Given the description of an element on the screen output the (x, y) to click on. 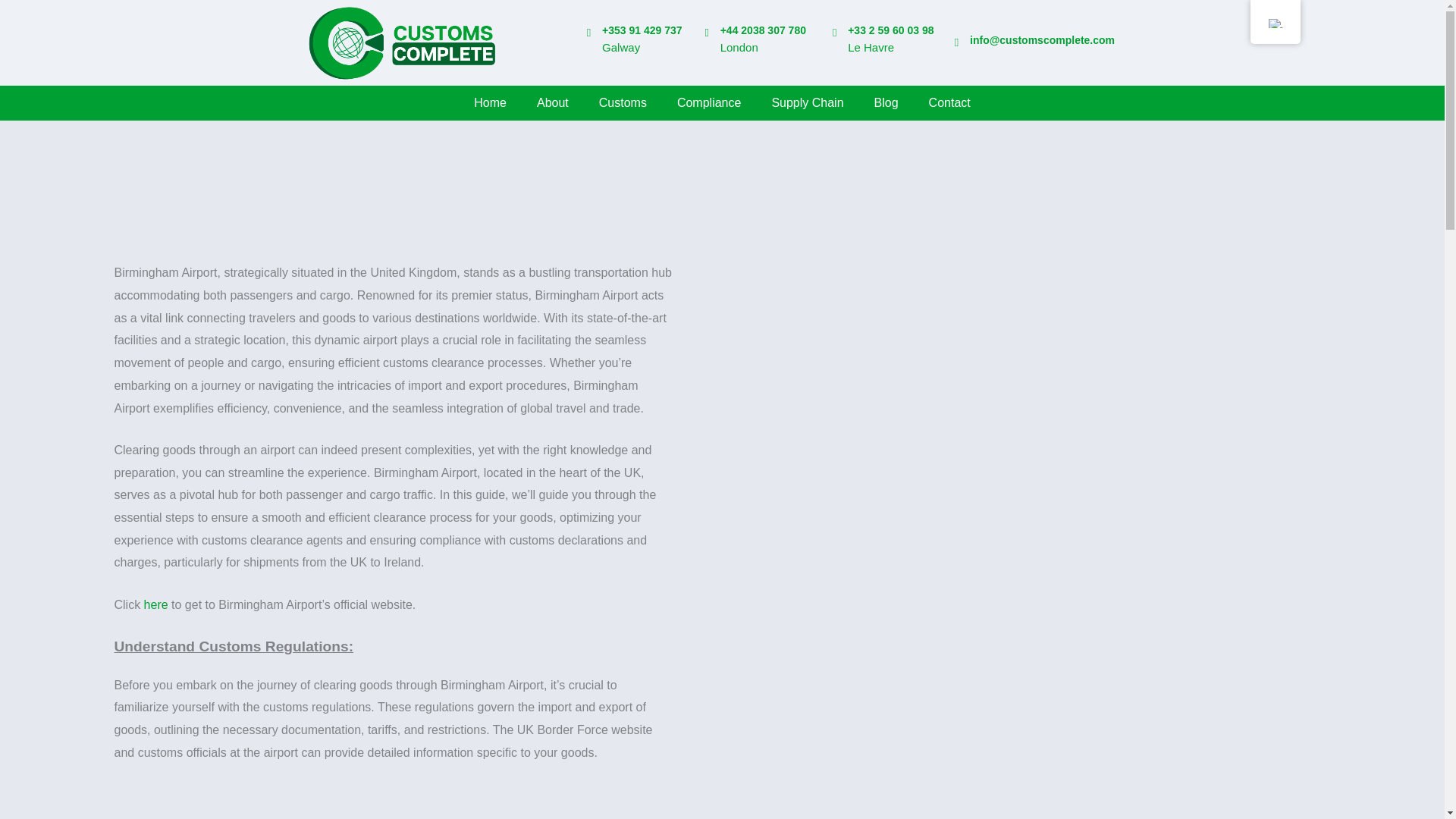
Contact (949, 102)
About (552, 102)
Supply Chain (807, 102)
English (1274, 22)
Blog (886, 102)
Compliance (708, 102)
Customs (622, 102)
Home (489, 102)
